Given the description of an element on the screen output the (x, y) to click on. 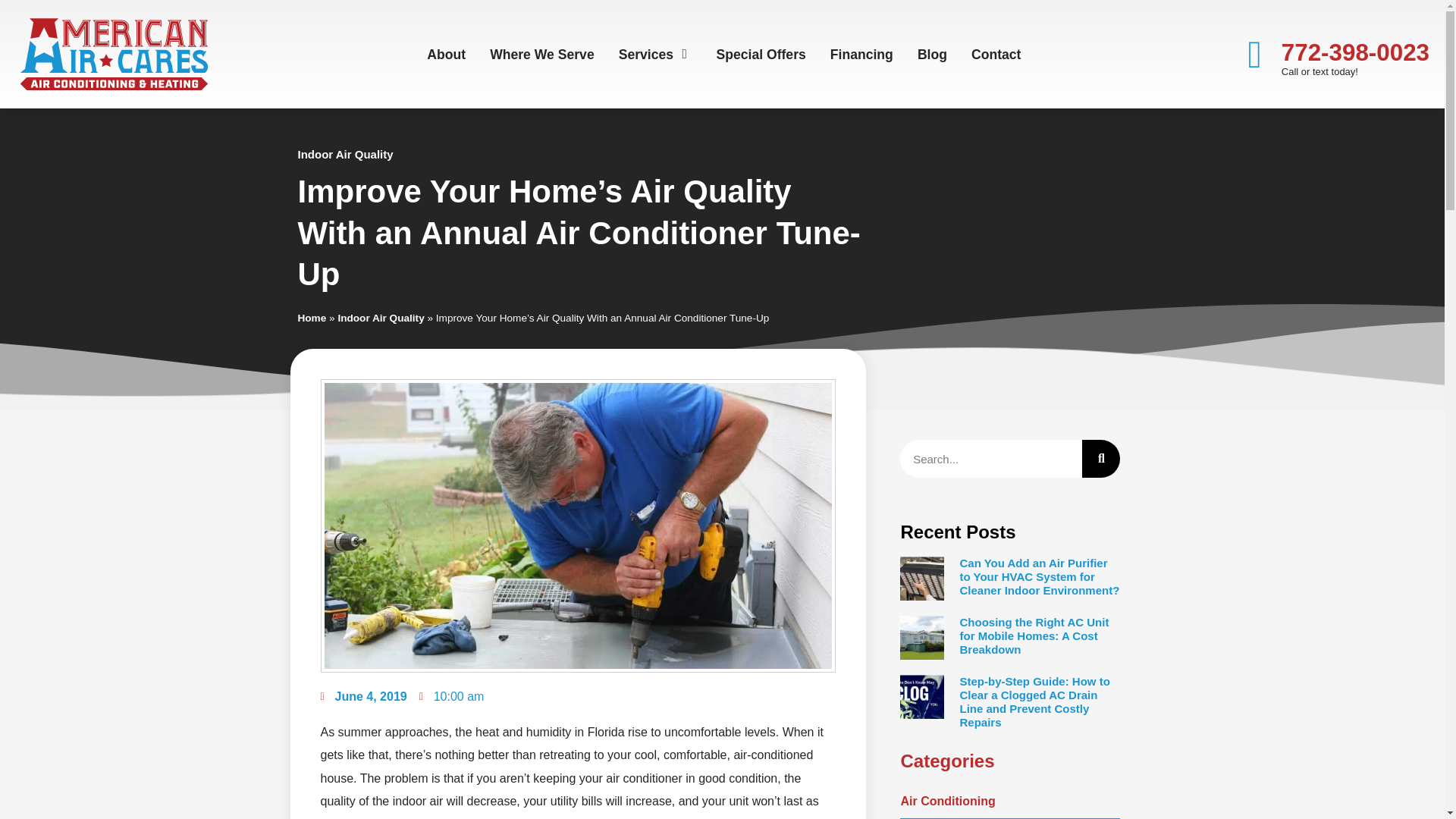
Contact (996, 54)
Where We Serve (541, 54)
Call american Air Cares todays (1255, 54)
Financing (861, 54)
Special Offers (760, 54)
Call american Air Cares todays (1355, 52)
772-398-0023 (1355, 52)
Blog (932, 54)
Services (645, 54)
About (445, 54)
